Given the description of an element on the screen output the (x, y) to click on. 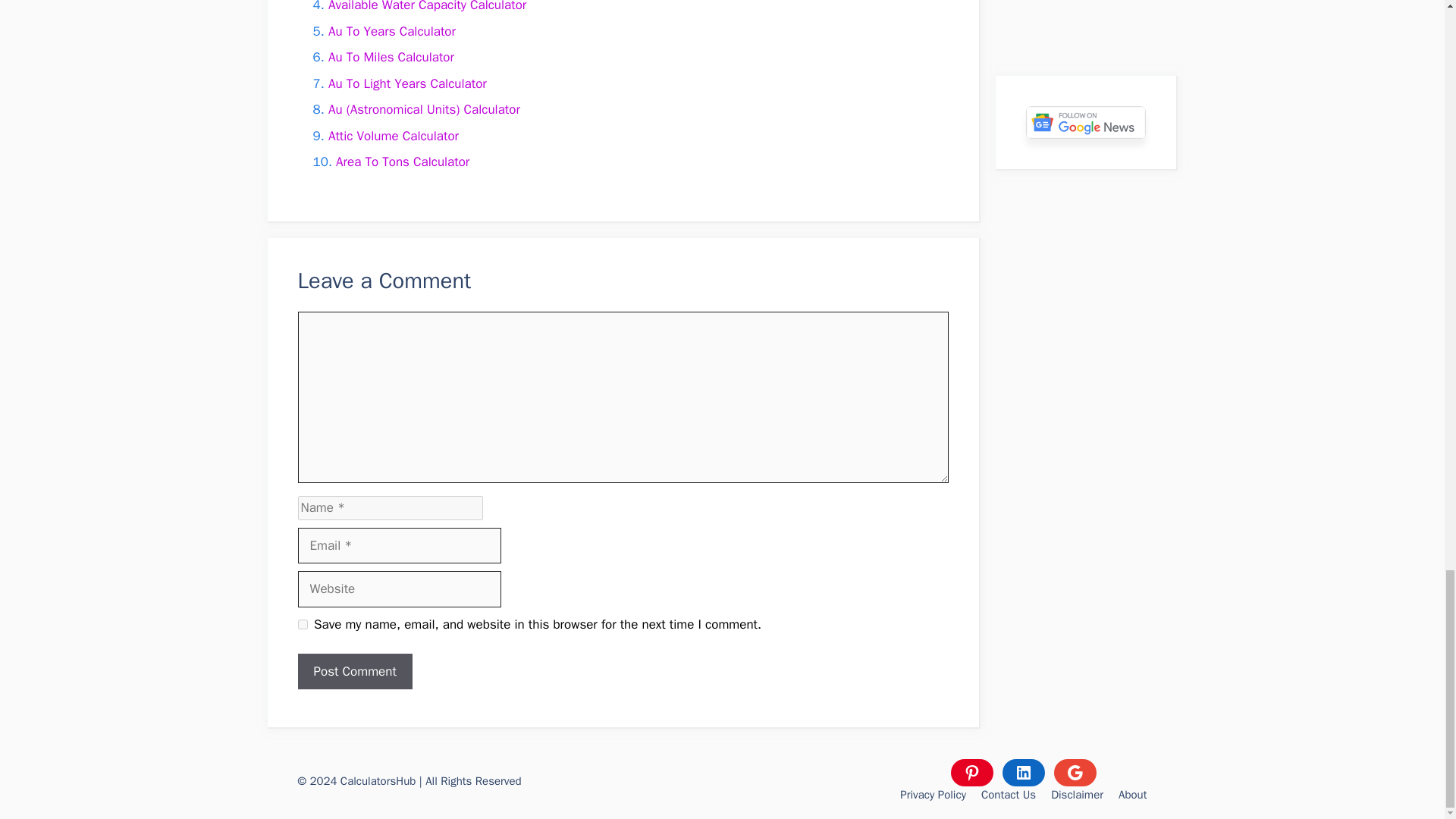
Au To Years Calculator (392, 31)
yes (302, 624)
Post Comment (354, 671)
Au To Miles Calculator (391, 57)
Attic Volume Calculator (393, 135)
Au To Light Years Calculator (407, 83)
Available Water Capacity Calculator (427, 6)
Area To Tons Calculator (402, 161)
